Given the description of an element on the screen output the (x, y) to click on. 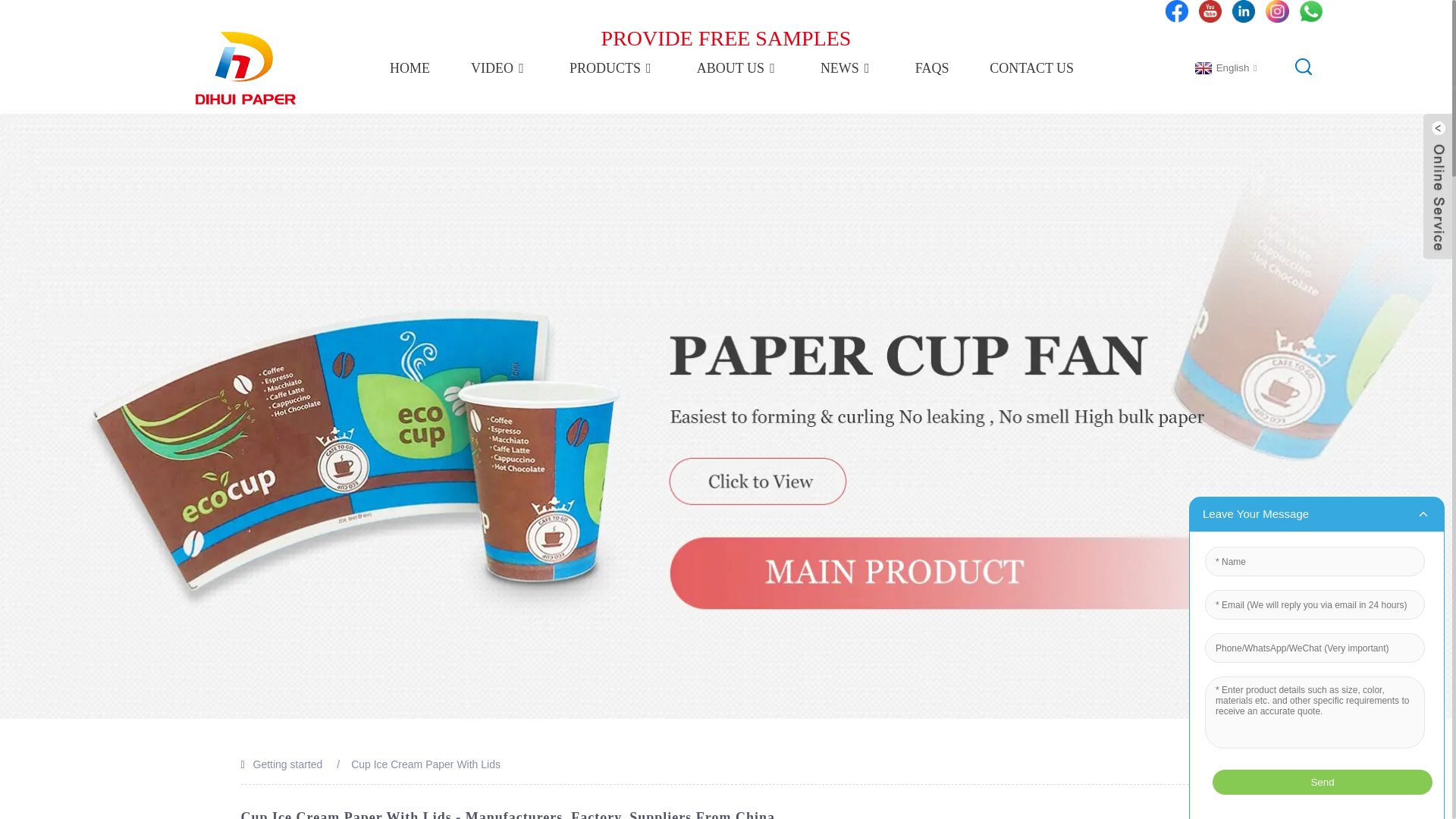
ABOUT US (737, 68)
CONTACT US (1032, 68)
NEWS (848, 68)
Getting started (288, 764)
Cup Ice Cream Paper With Lids (425, 764)
VIDEO (499, 68)
English (1224, 67)
PRODUCTS (612, 68)
HOME (409, 68)
FAQS (932, 68)
